Given the description of an element on the screen output the (x, y) to click on. 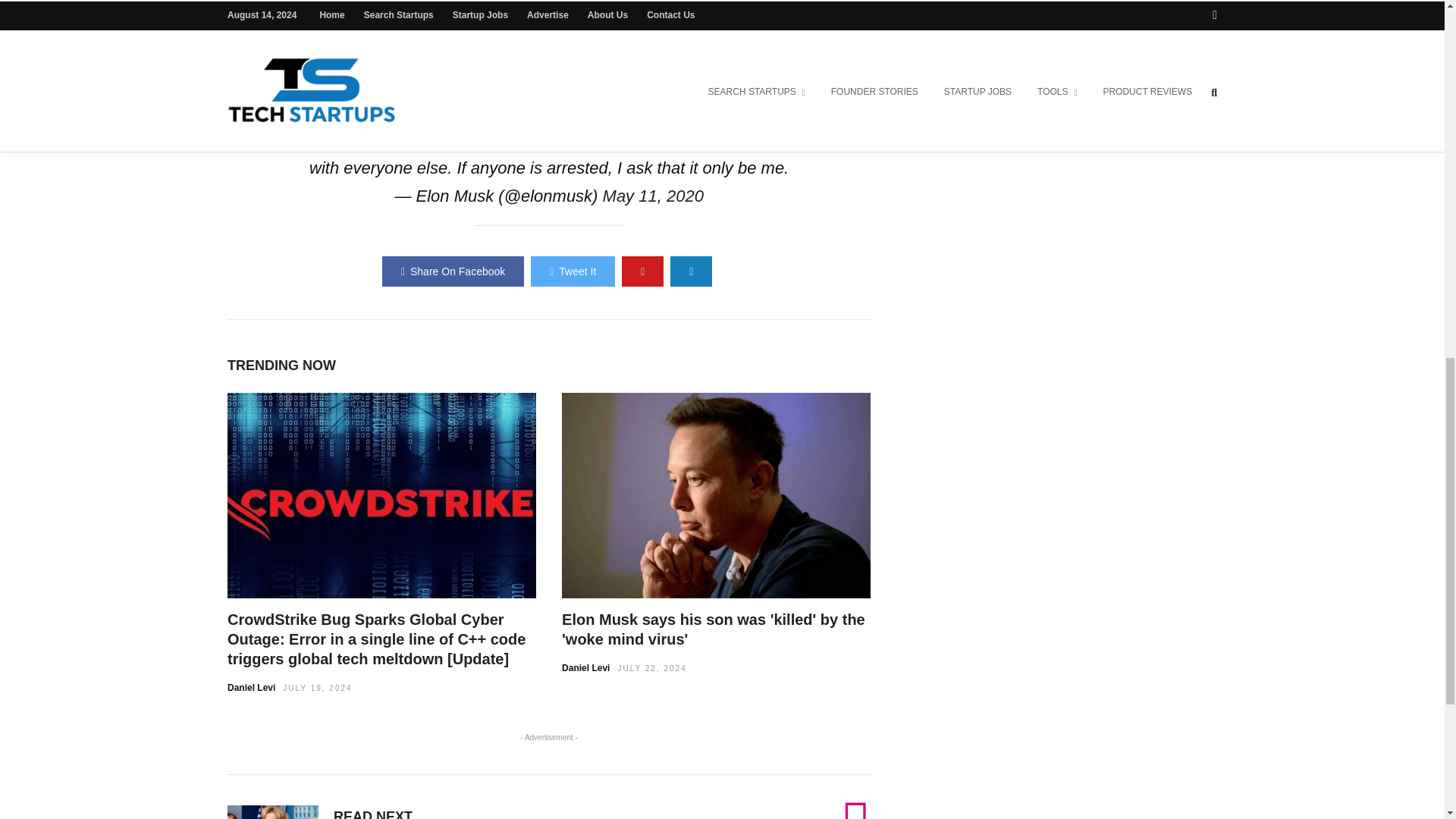
Share On Twitter (572, 271)
Share by Email (690, 271)
May 11, 2020 (652, 195)
Share On Pinterest (642, 271)
Share On Facebook (452, 271)
